Given the description of an element on the screen output the (x, y) to click on. 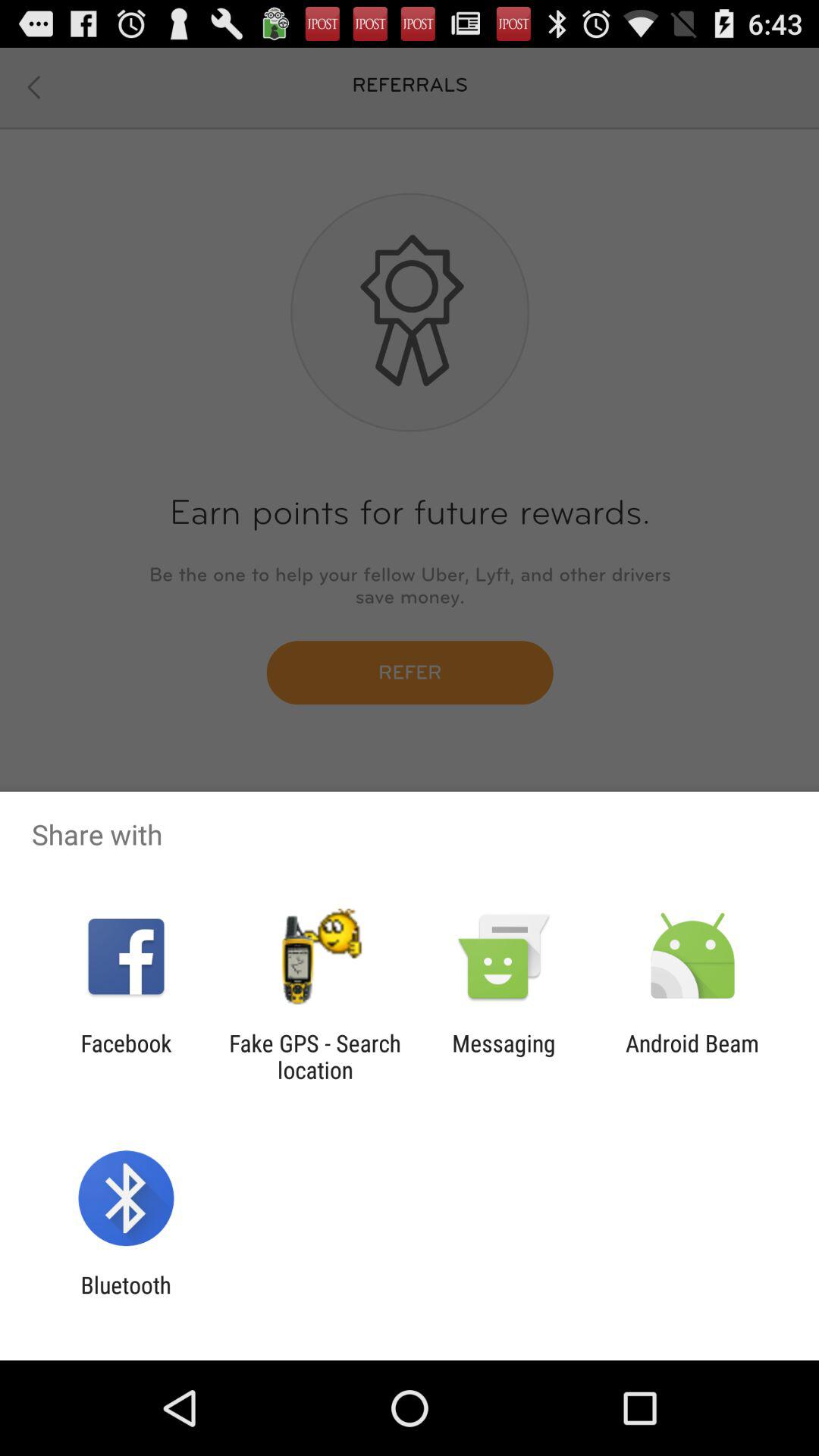
turn off icon next to fake gps search app (503, 1056)
